Given the description of an element on the screen output the (x, y) to click on. 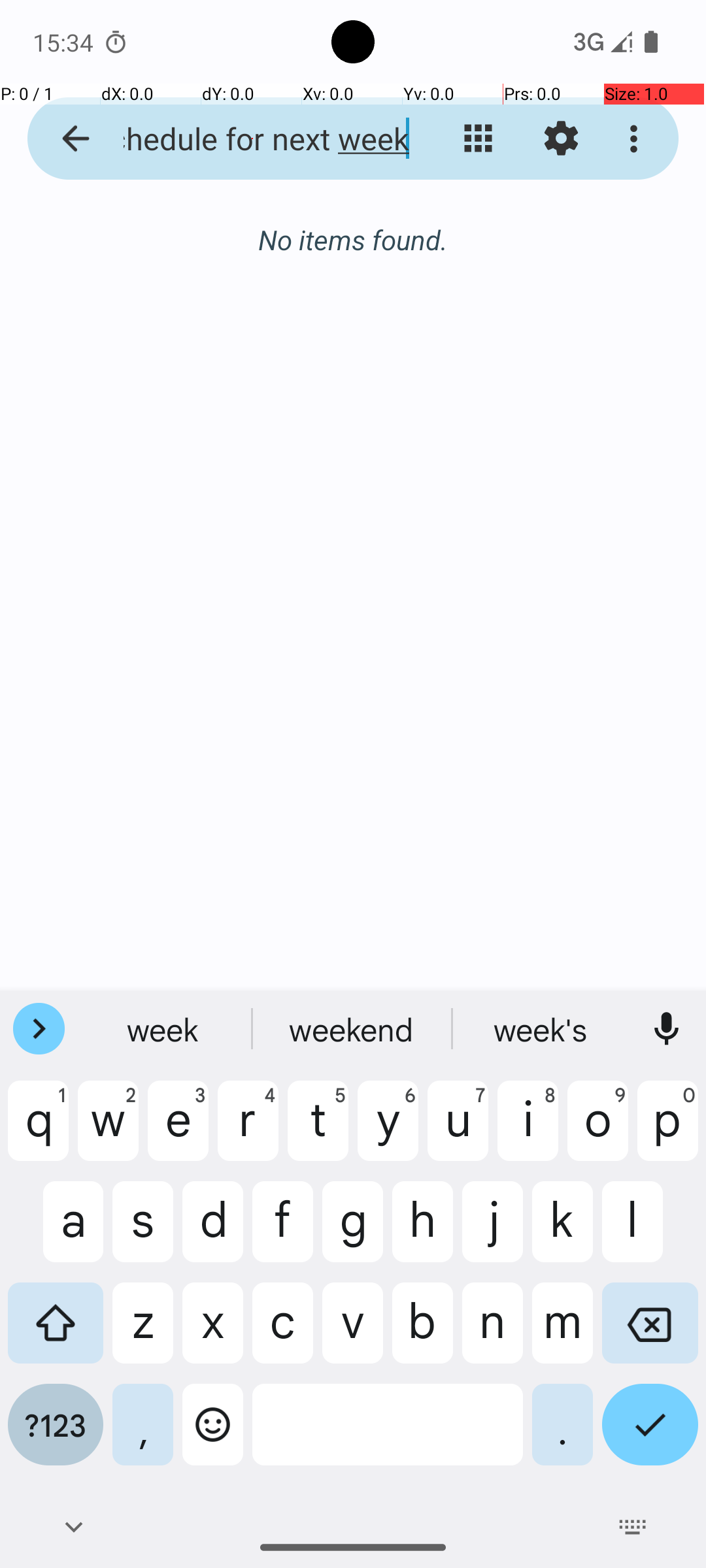
Meeting schedule for next week Element type: android.widget.EditText (252, 138)
wee Element type: android.widget.FrameLayout (163, 1028)
week Element type: android.widget.FrameLayout (352, 1028)
weekend Element type: android.widget.FrameLayout (541, 1028)
